Given the description of an element on the screen output the (x, y) to click on. 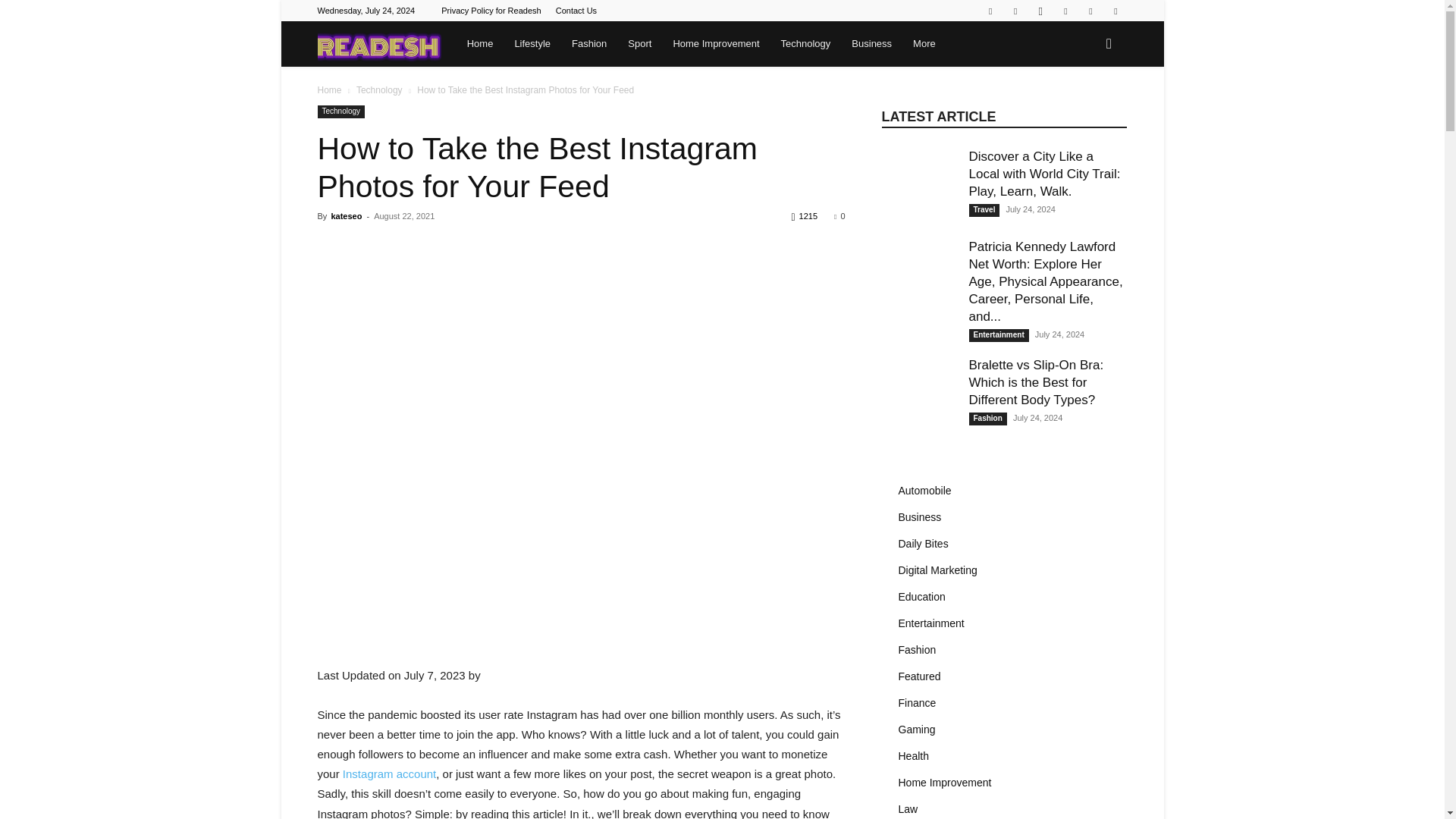
Privacy Policy for Readesh (490, 10)
Facebook (1015, 10)
Contact Us (576, 10)
VKontakte (1114, 10)
Twitter (1065, 10)
Vimeo (1090, 10)
Instagram (1040, 10)
Behance (989, 10)
Readish Logo (379, 44)
